Given the description of an element on the screen output the (x, y) to click on. 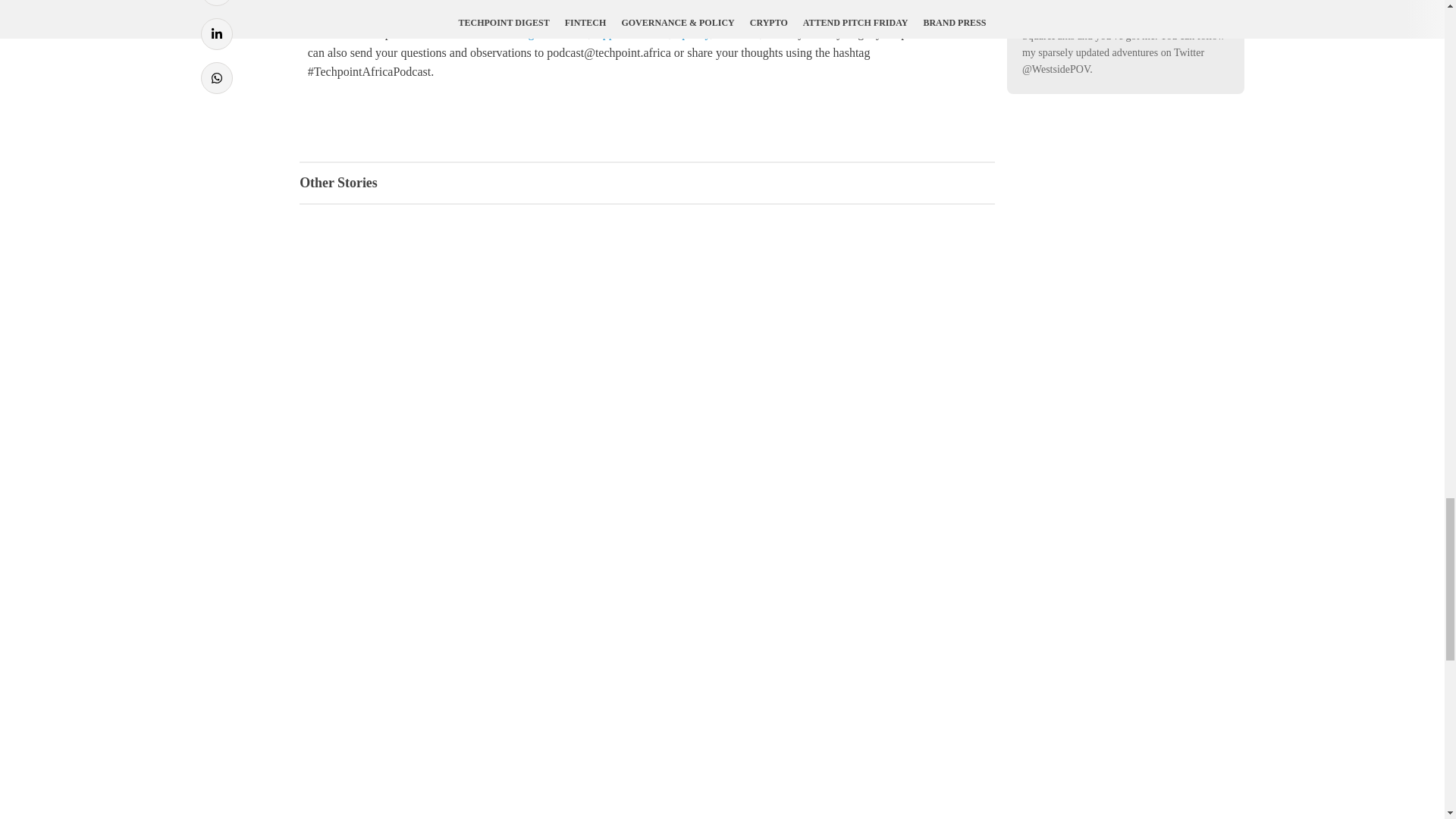
Apple Podcasts (631, 32)
YouTube (738, 32)
Google Podcasts (547, 32)
Spotify (692, 32)
